Given the description of an element on the screen output the (x, y) to click on. 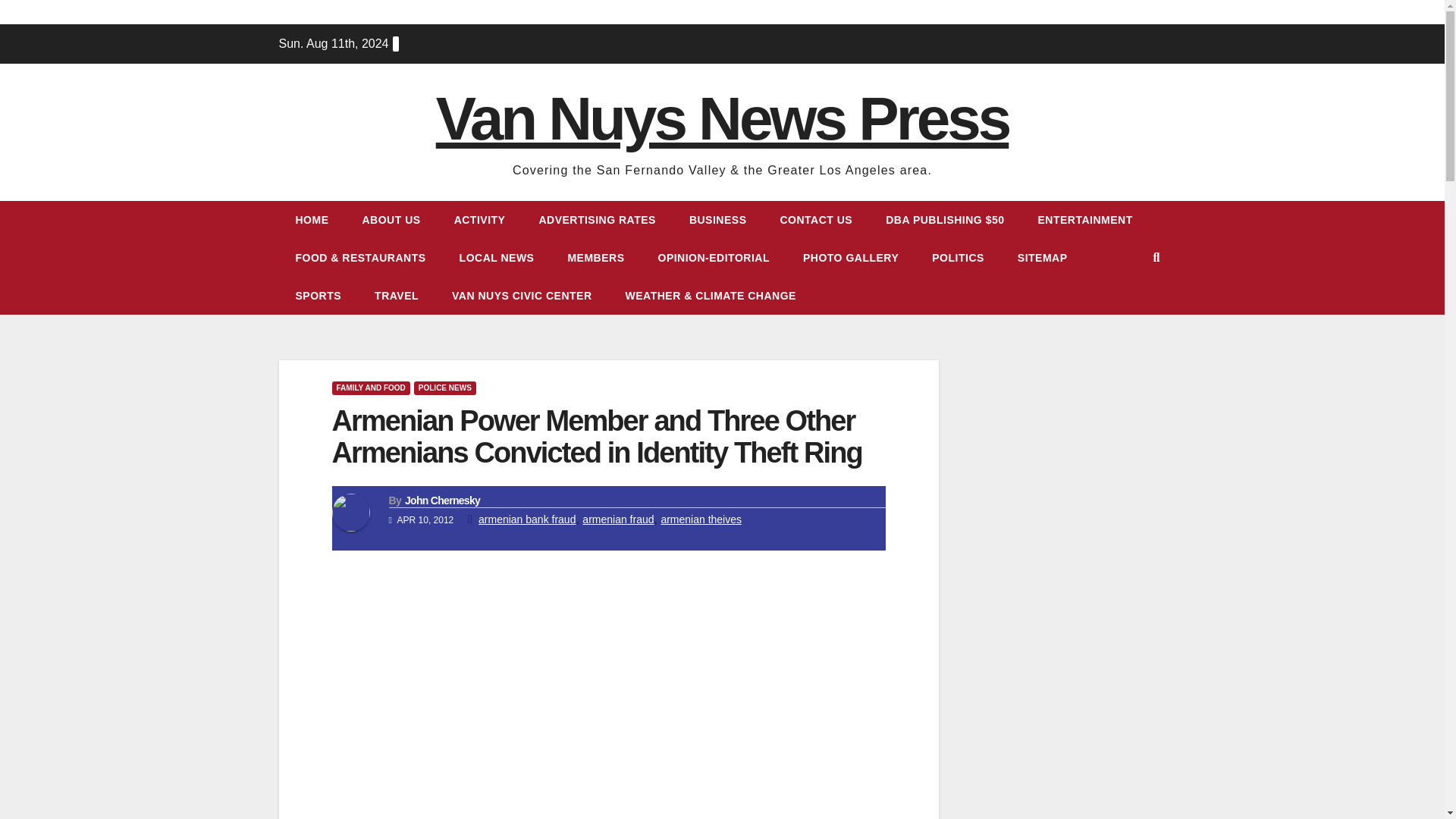
FAMILY AND FOOD (370, 387)
CONTACT US (815, 219)
VAN NUYS CIVIC CENTER (521, 295)
SITEMAP (1042, 257)
HOME (312, 219)
ACTIVITY (480, 219)
Van Nuys News Press (722, 118)
POLITICS (958, 257)
Home (312, 219)
PHOTO GALLERY (850, 257)
